Given the description of an element on the screen output the (x, y) to click on. 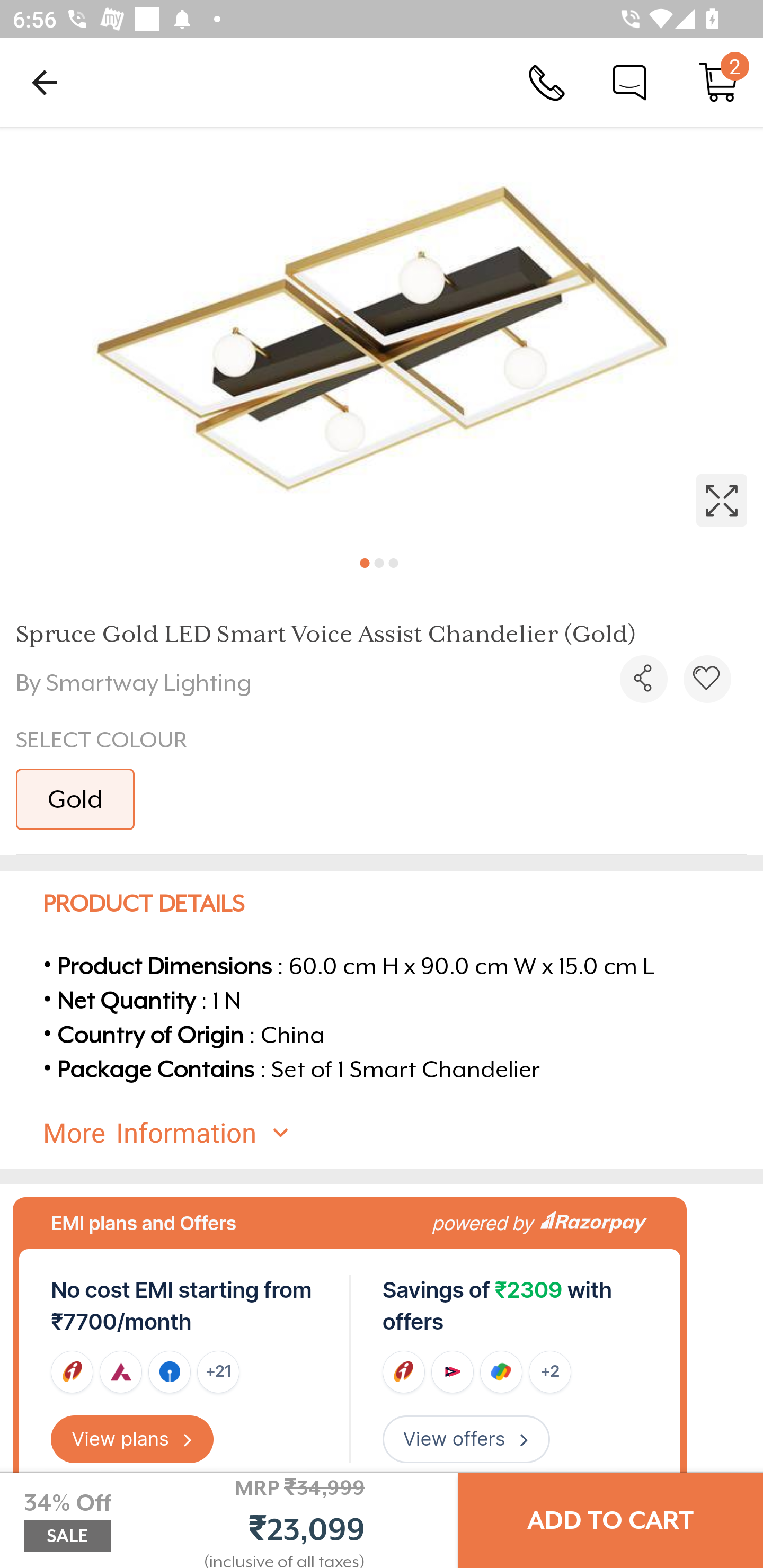
Navigate up (44, 82)
Call Us (546, 81)
Chat (629, 81)
Cart (718, 81)
 (381, 334)
 (643, 678)
 (706, 678)
Gold (75, 798)
More Information  (396, 1132)
View plans (132, 1439)
View offers (465, 1439)
ADD TO CART (610, 1520)
